Given the description of an element on the screen output the (x, y) to click on. 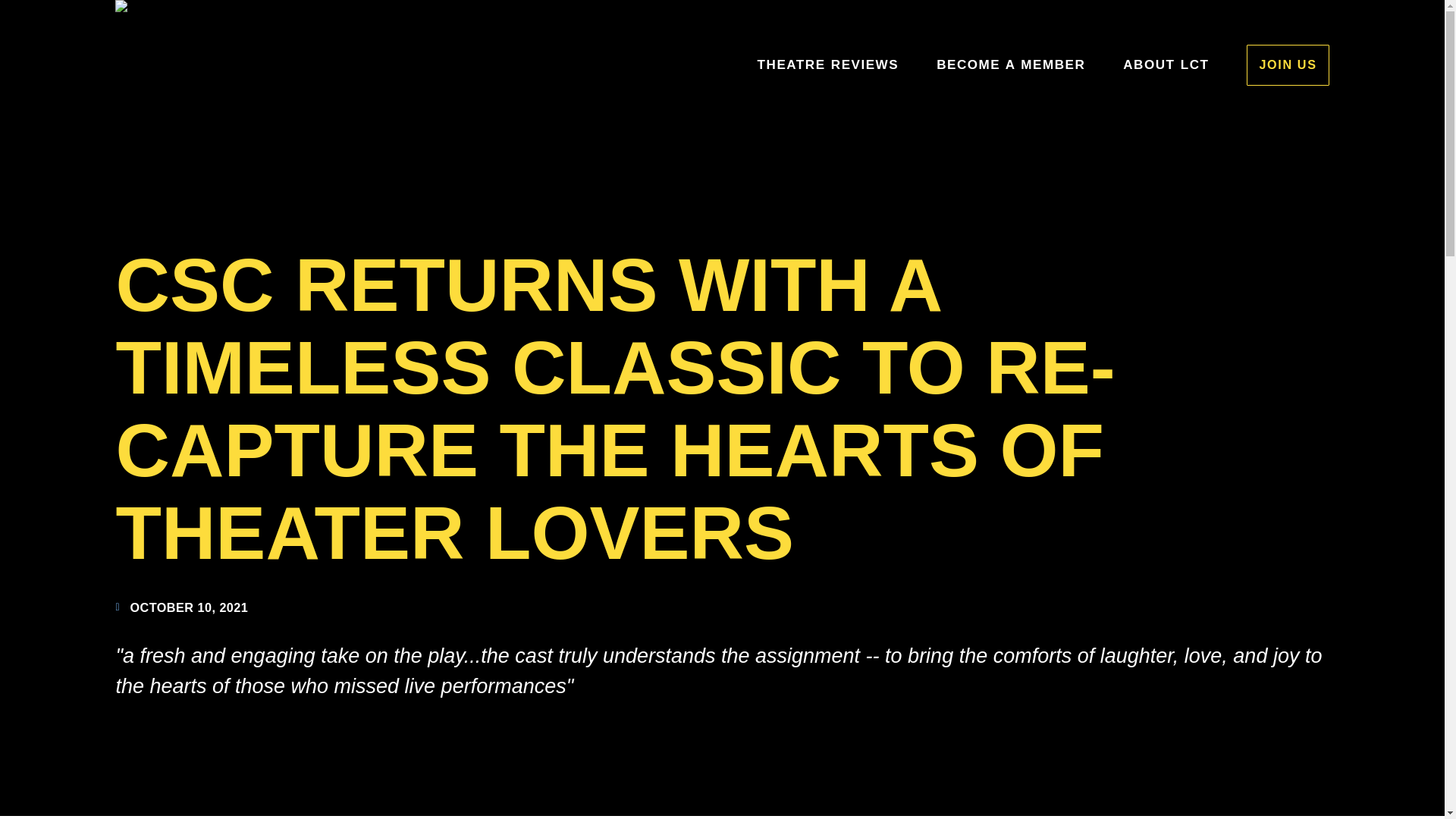
JOIN US (1286, 65)
ABOUT LCT (1165, 64)
THEATRE REVIEWS (828, 64)
OCTOBER 10, 2021 (181, 607)
BECOME A MEMBER (1010, 64)
